Given the description of an element on the screen output the (x, y) to click on. 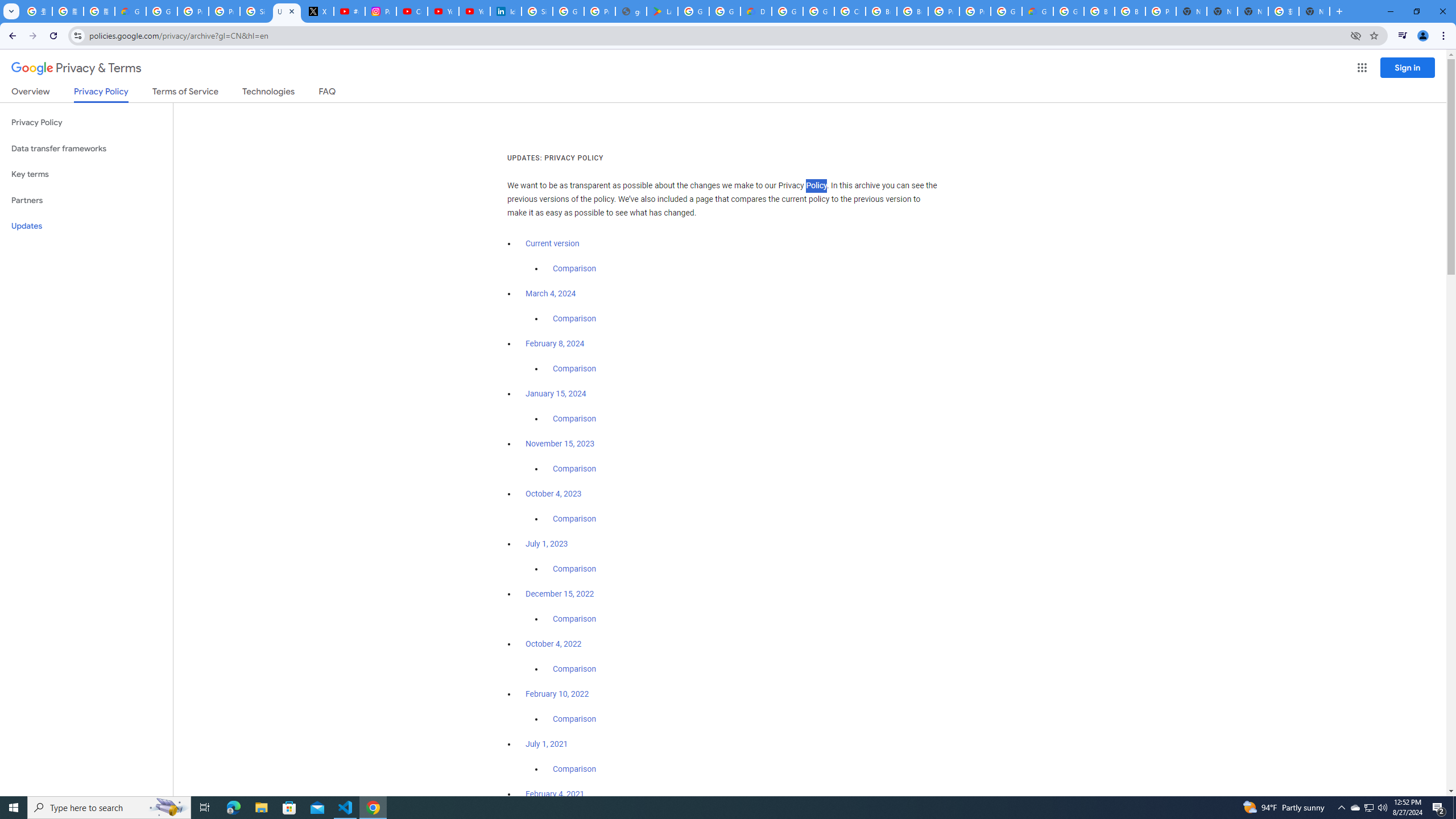
October 4, 2023 (553, 493)
October 4, 2022 (553, 643)
Google Workspace - Specific Terms (724, 11)
Control your music, videos, and more (1402, 35)
Comparison (574, 768)
New Tab (1190, 11)
Last Shelter: Survival - Apps on Google Play (662, 11)
February 10, 2022 (557, 693)
Current version (552, 243)
